Given the description of an element on the screen output the (x, y) to click on. 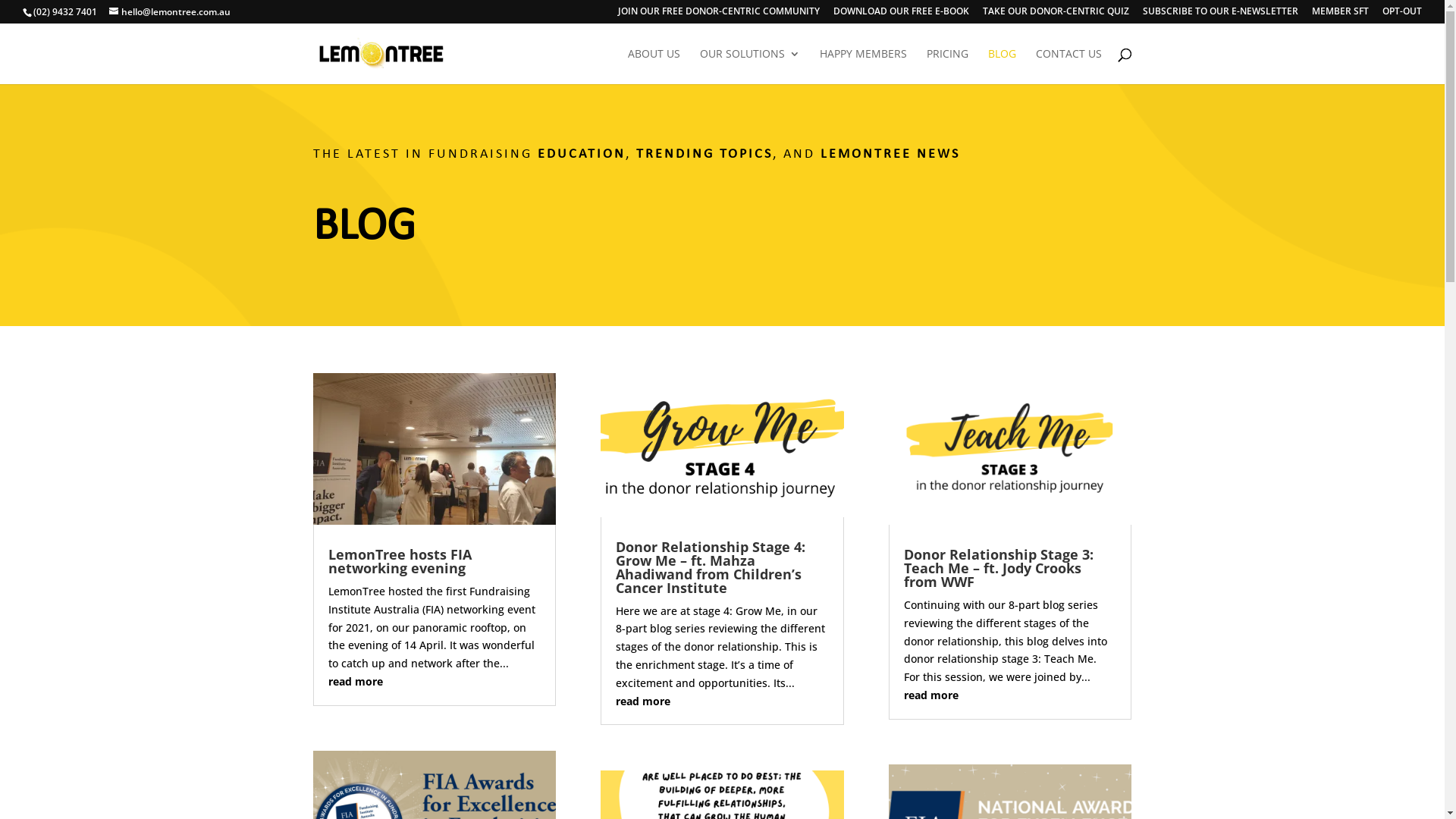
JOIN OUR FREE DONOR-CENTRIC COMMUNITY Element type: text (718, 14)
LemonTree hosts FIA networking evening Element type: text (398, 561)
hello@lemontree.com.au Element type: text (169, 11)
ABOUT US Element type: text (653, 66)
CONTACT US Element type: text (1068, 66)
OPT-OUT Element type: text (1401, 14)
(02) 9432 7401 Element type: text (65, 11)
SUBSCRIBE TO OUR E-NEWSLETTER Element type: text (1220, 14)
read more Element type: text (930, 694)
MEMBER SFT Element type: text (1339, 14)
read more Element type: text (354, 681)
BLOG Element type: text (1001, 66)
DOWNLOAD OUR FREE E-BOOK Element type: text (901, 14)
OUR SOLUTIONS Element type: text (749, 66)
TAKE OUR DONOR-CENTRIC QUIZ Element type: text (1055, 14)
read more Element type: text (642, 700)
PRICING Element type: text (947, 66)
HAPPY MEMBERS Element type: text (862, 66)
